Given the description of an element on the screen output the (x, y) to click on. 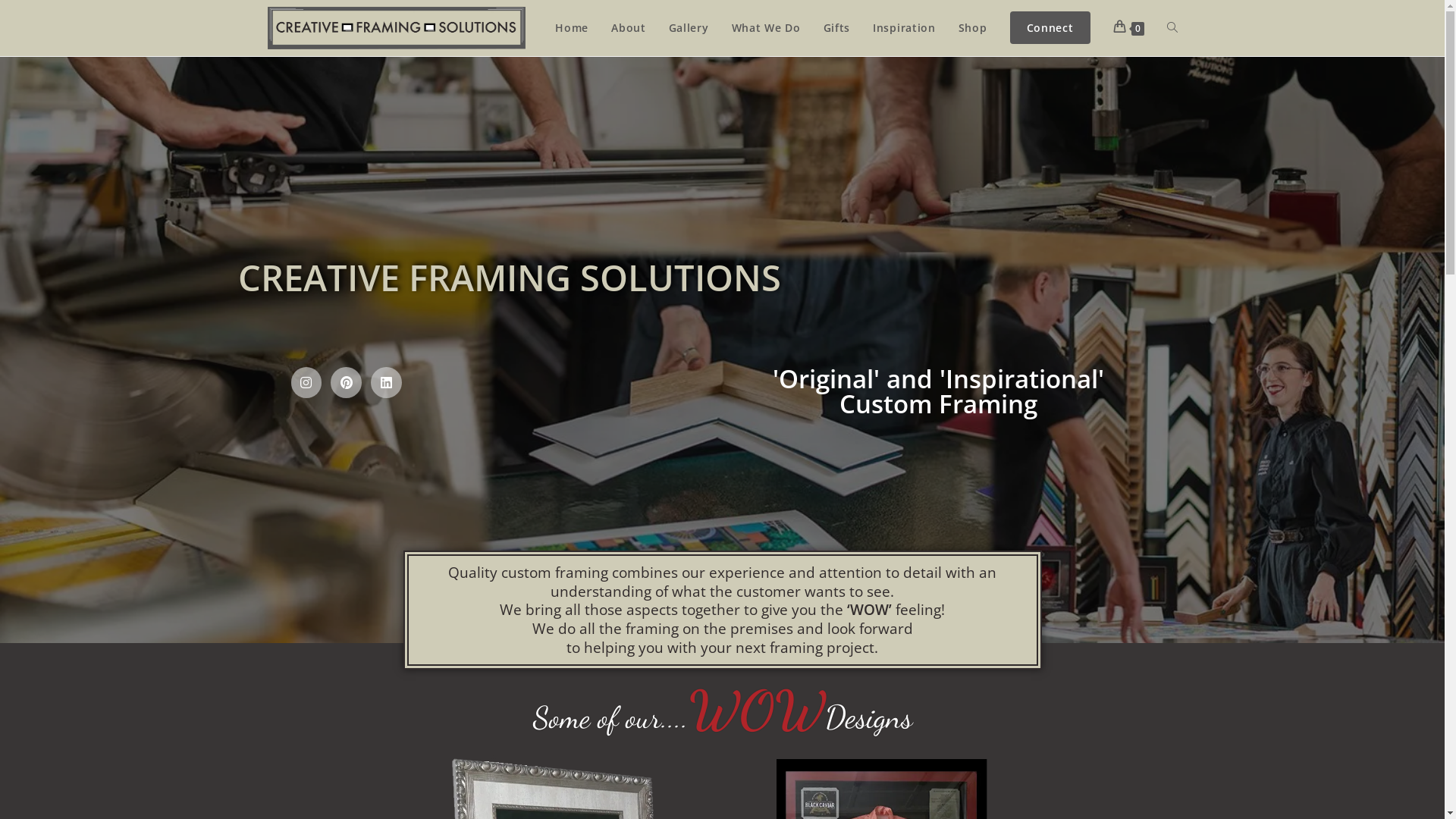
Shop Element type: text (972, 28)
Inspiration Element type: text (904, 28)
0 Element type: text (1127, 28)
About Element type: text (628, 28)
Gifts Element type: text (837, 28)
What We Do Element type: text (766, 28)
Home Element type: text (571, 28)
Connect Element type: text (1049, 28)
Gallery Element type: text (688, 28)
